Given the description of an element on the screen output the (x, y) to click on. 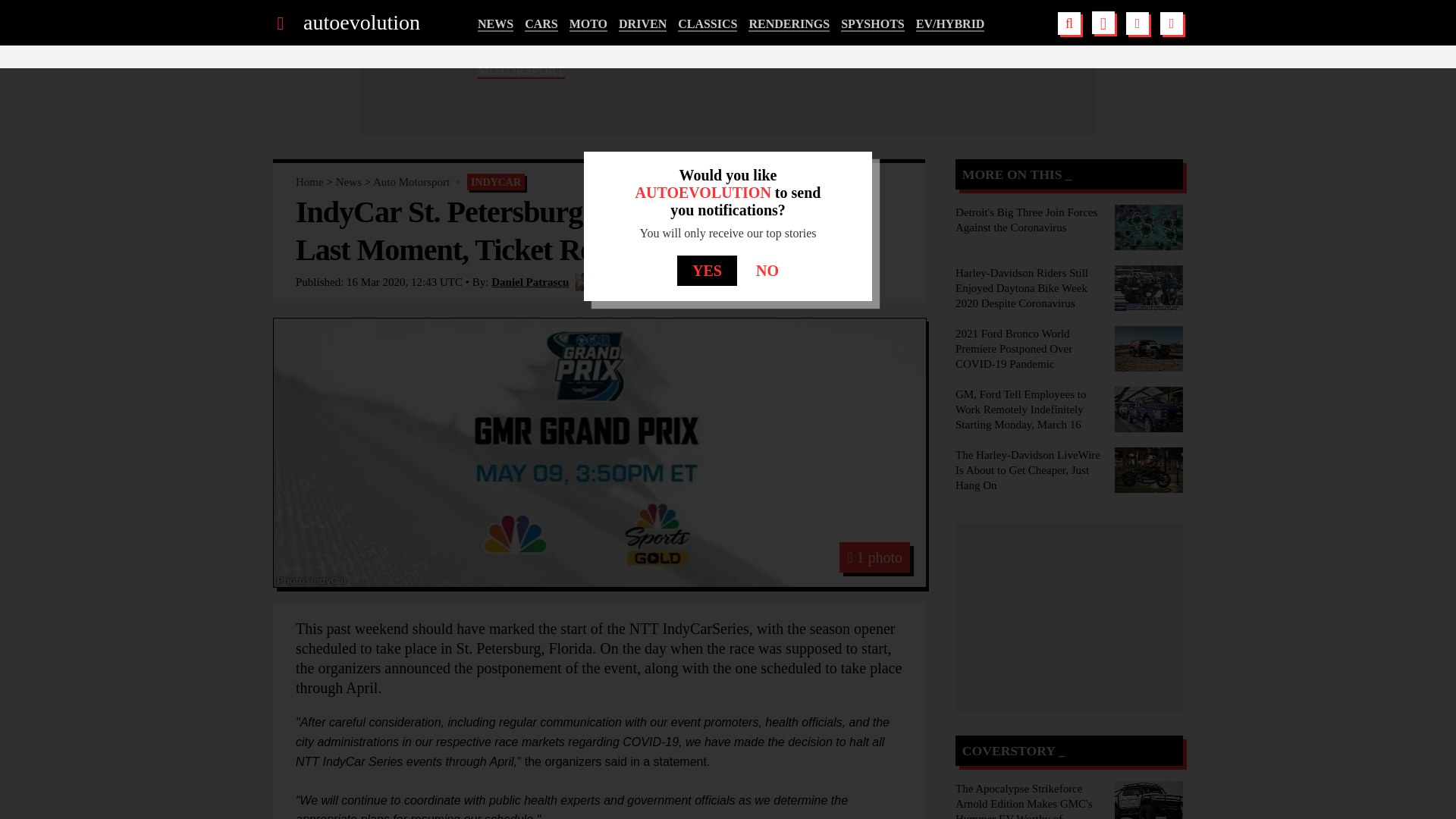
Home (309, 182)
SPYSHOTS (872, 24)
Auto Motorsport (410, 182)
NEWS (495, 24)
CLASSICS (707, 24)
MOTORSPORT (520, 71)
MOTO (588, 24)
DRIVEN (642, 24)
News (348, 182)
autoevolution (361, 22)
CARS (540, 24)
RENDERINGS (788, 24)
autoevolution (361, 22)
